Given the description of an element on the screen output the (x, y) to click on. 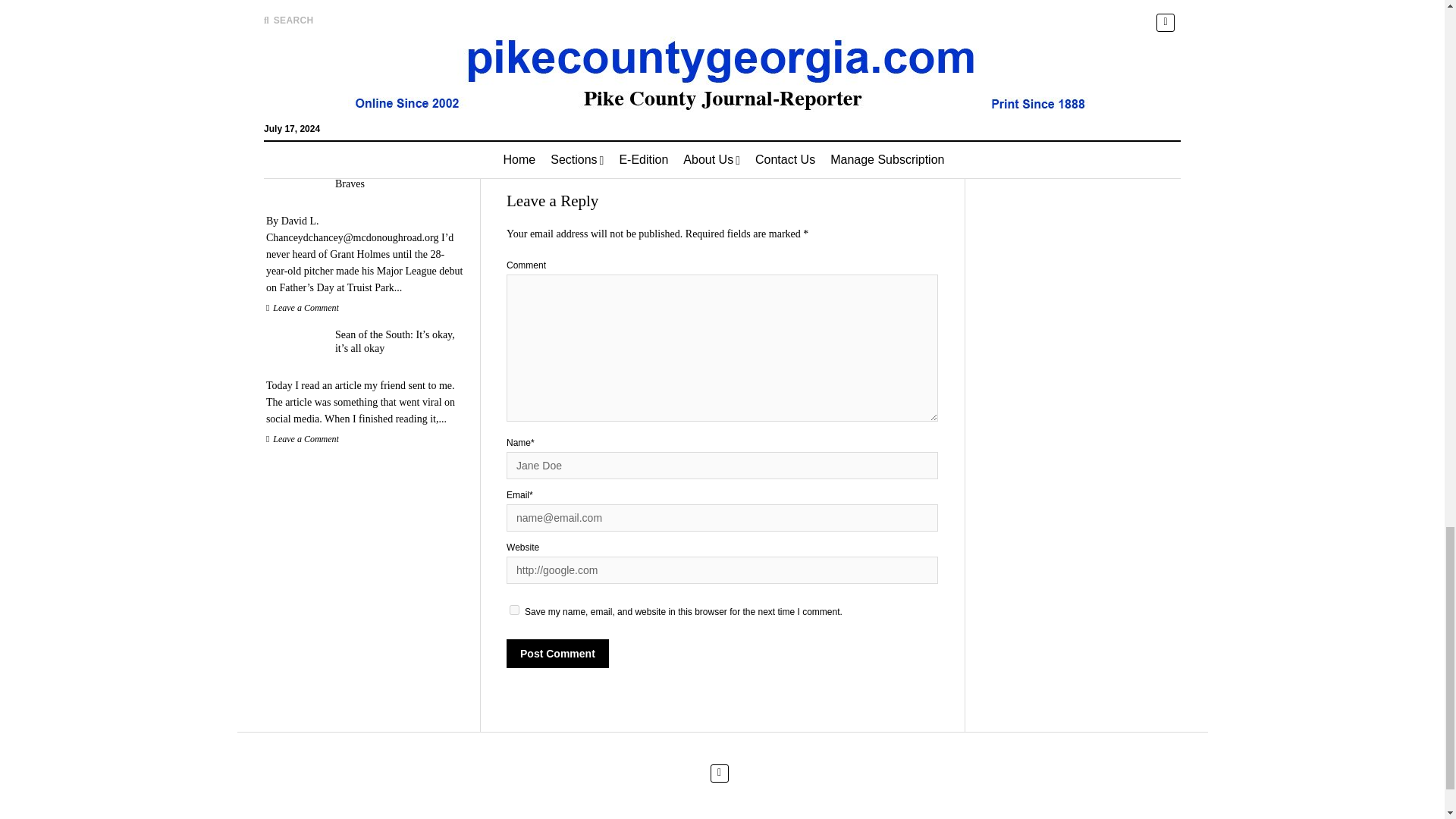
yes (514, 610)
Post Comment (557, 653)
